Given the description of an element on the screen output the (x, y) to click on. 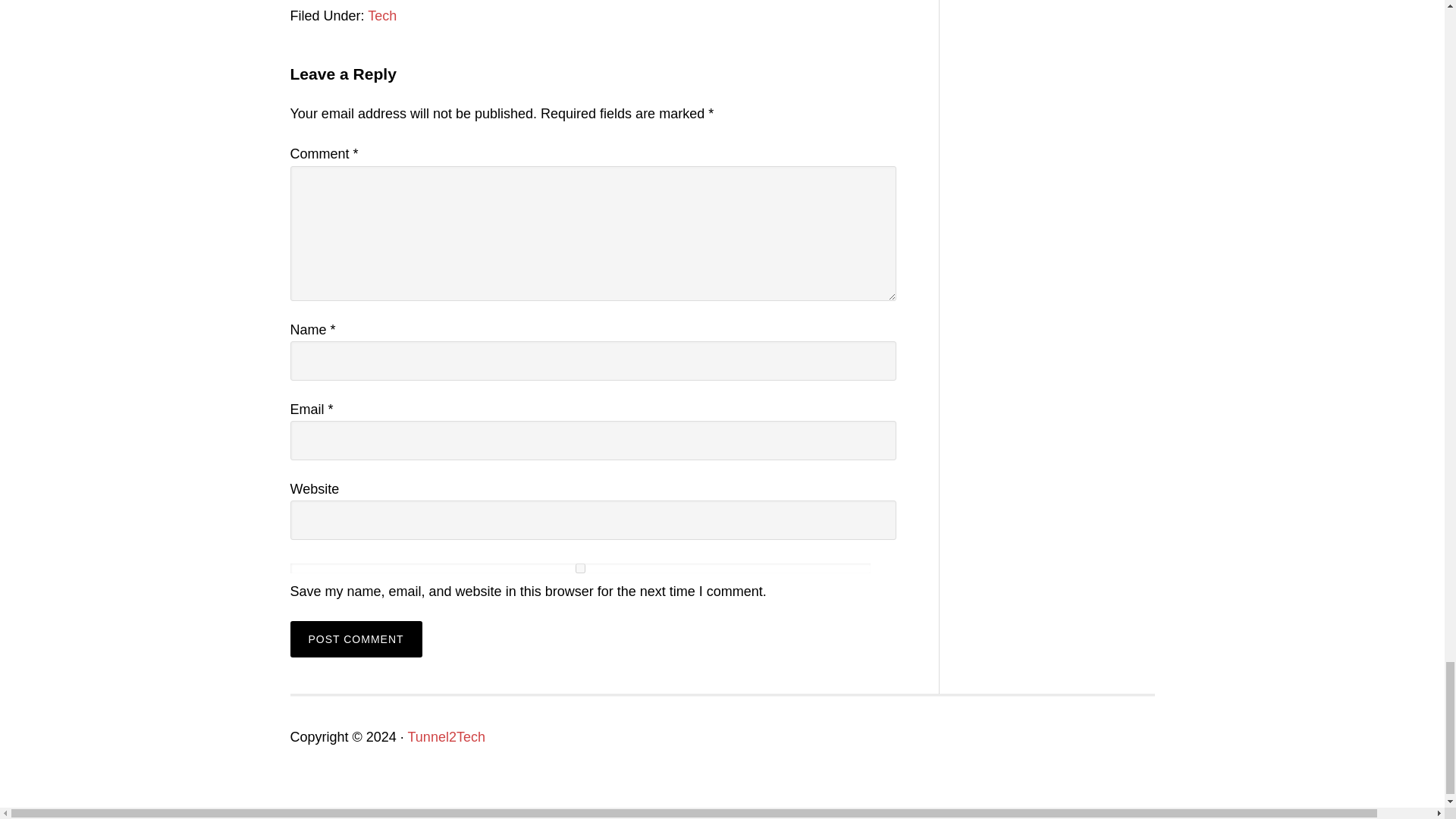
Tech (382, 15)
Post Comment (355, 638)
Post Comment (355, 638)
yes (579, 568)
